Given the description of an element on the screen output the (x, y) to click on. 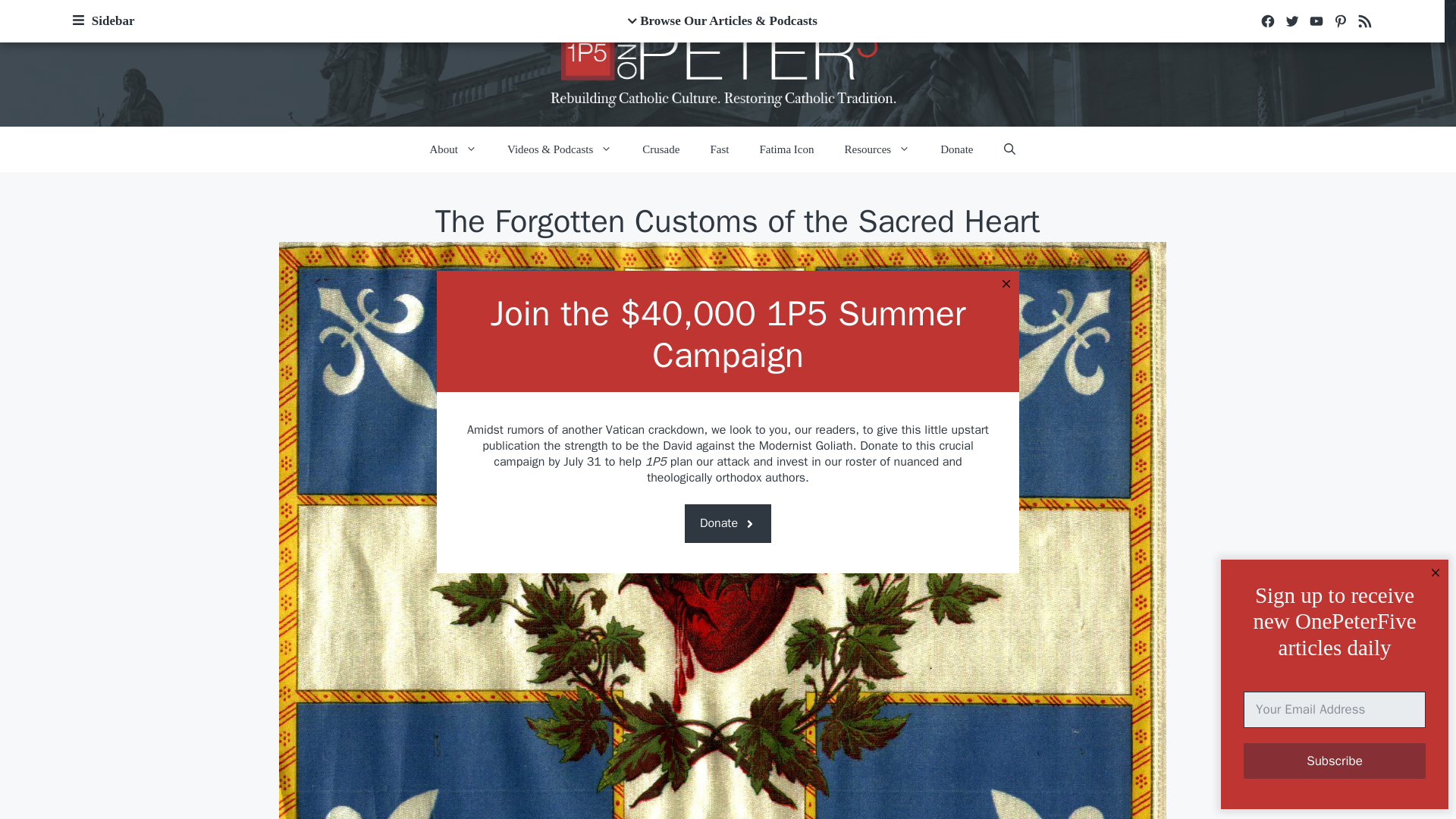
RSS Feed (1364, 20)
Posts by  Matthew Plese (708, 267)
Facebook (1267, 20)
Twitter (1292, 20)
Pinterest (1340, 20)
Posts by  Matthew Plese (665, 267)
About (452, 148)
YouTube (1315, 20)
